Given the description of an element on the screen output the (x, y) to click on. 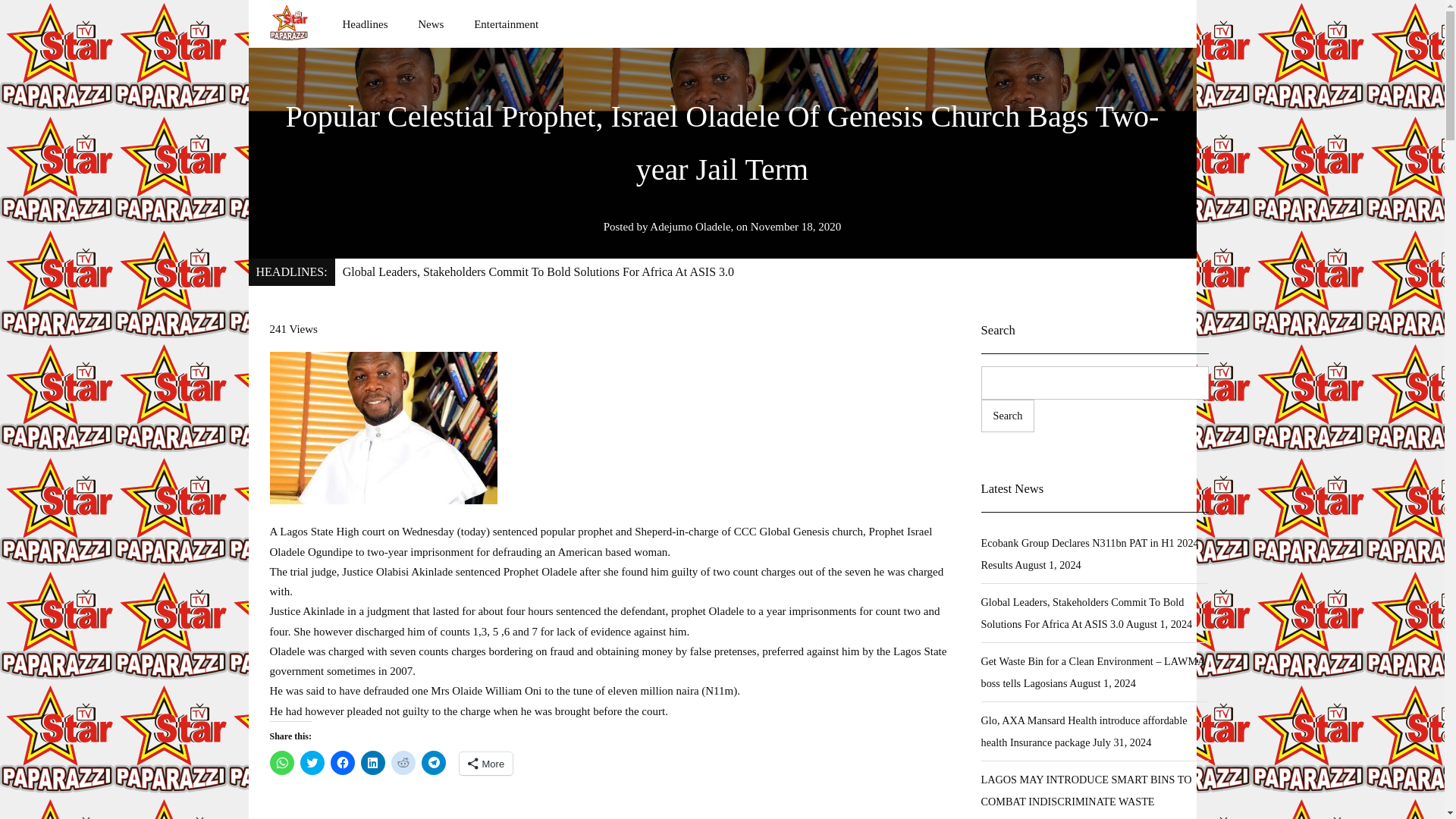
Headlines (364, 23)
Entertainment (506, 23)
November 18, 2020 (796, 226)
Paparazzi Star TV (288, 22)
News (430, 23)
More entries by Adejumo Oladele (689, 226)
Views on this Entry (293, 328)
More (486, 763)
Search (1008, 415)
Adejumo Oladele (689, 226)
More entries posted on November 18, 2020 (796, 226)
